Given the description of an element on the screen output the (x, y) to click on. 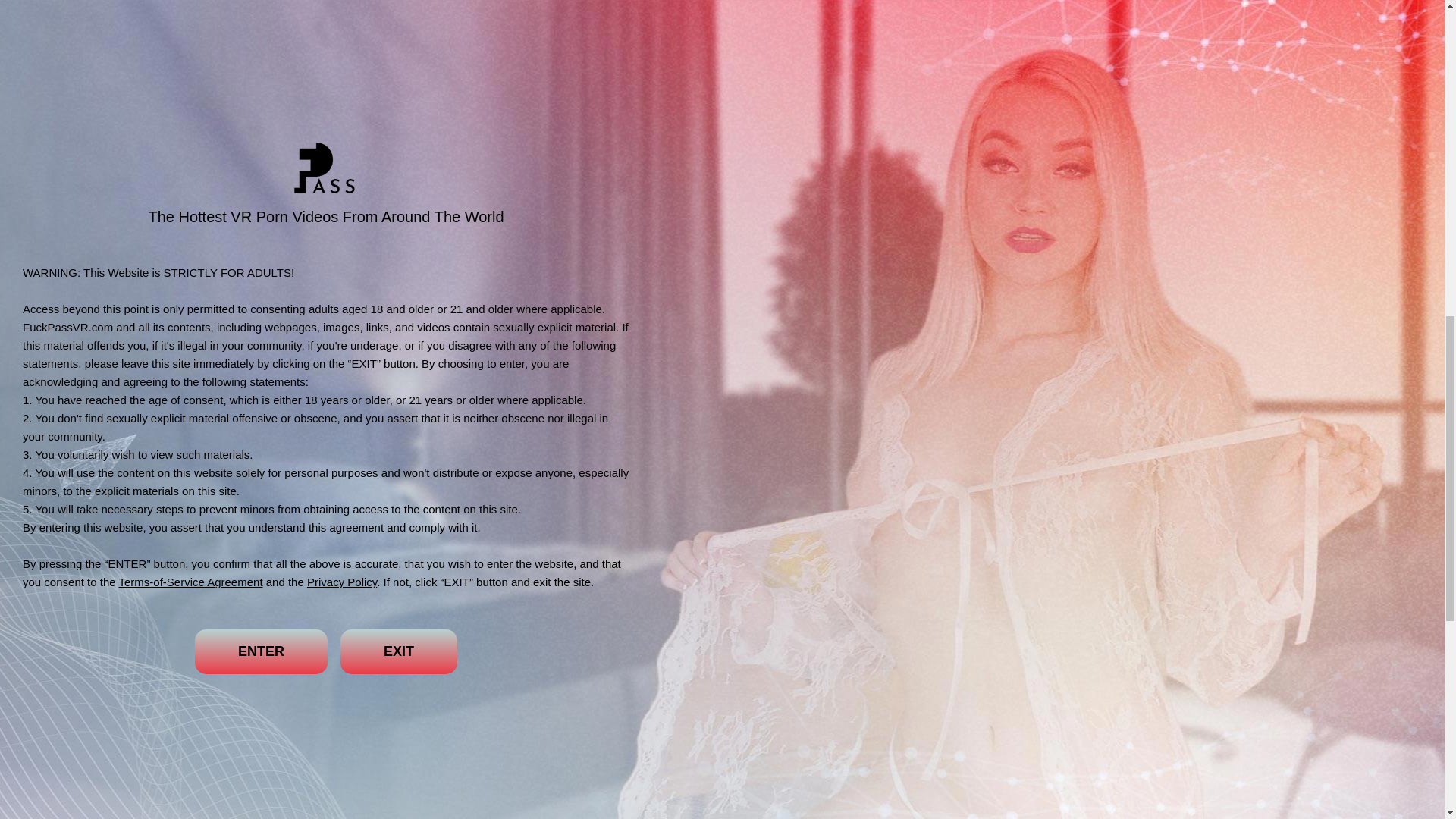
Dick Sucking (614, 29)
Clean Pussy (530, 29)
Facial (683, 29)
Intimate (244, 29)
Intimate (244, 29)
POV (204, 61)
Analized (581, 61)
POV BJ (643, 61)
Close-up (335, 61)
Tattoos (400, 61)
Reverse Cowgirl (761, 29)
ATM (391, 29)
Sexy Raven (878, 61)
Standing Missionary (489, 61)
Bald Pussy (850, 29)
